Given the description of an element on the screen output the (x, y) to click on. 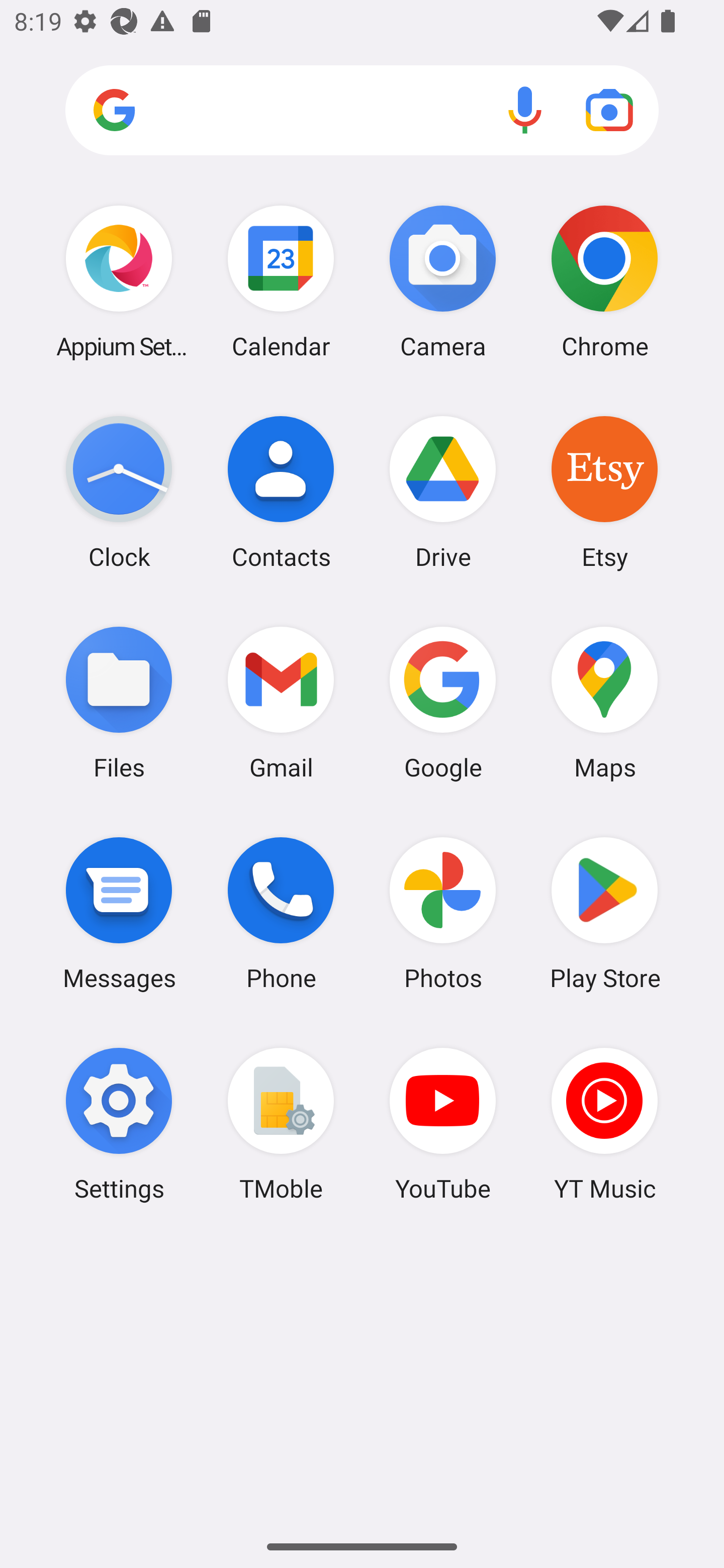
Search apps, web and more (361, 110)
Voice search (524, 109)
Google Lens (608, 109)
Appium Settings (118, 281)
Calendar (280, 281)
Camera (443, 281)
Chrome (604, 281)
Clock (118, 492)
Contacts (280, 492)
Drive (443, 492)
Etsy (604, 492)
Files (118, 702)
Gmail (280, 702)
Google (443, 702)
Maps (604, 702)
Messages (118, 913)
Phone (280, 913)
Photos (443, 913)
Play Store (604, 913)
Settings (118, 1124)
TMoble (280, 1124)
YouTube (443, 1124)
YT Music (604, 1124)
